Given the description of an element on the screen output the (x, y) to click on. 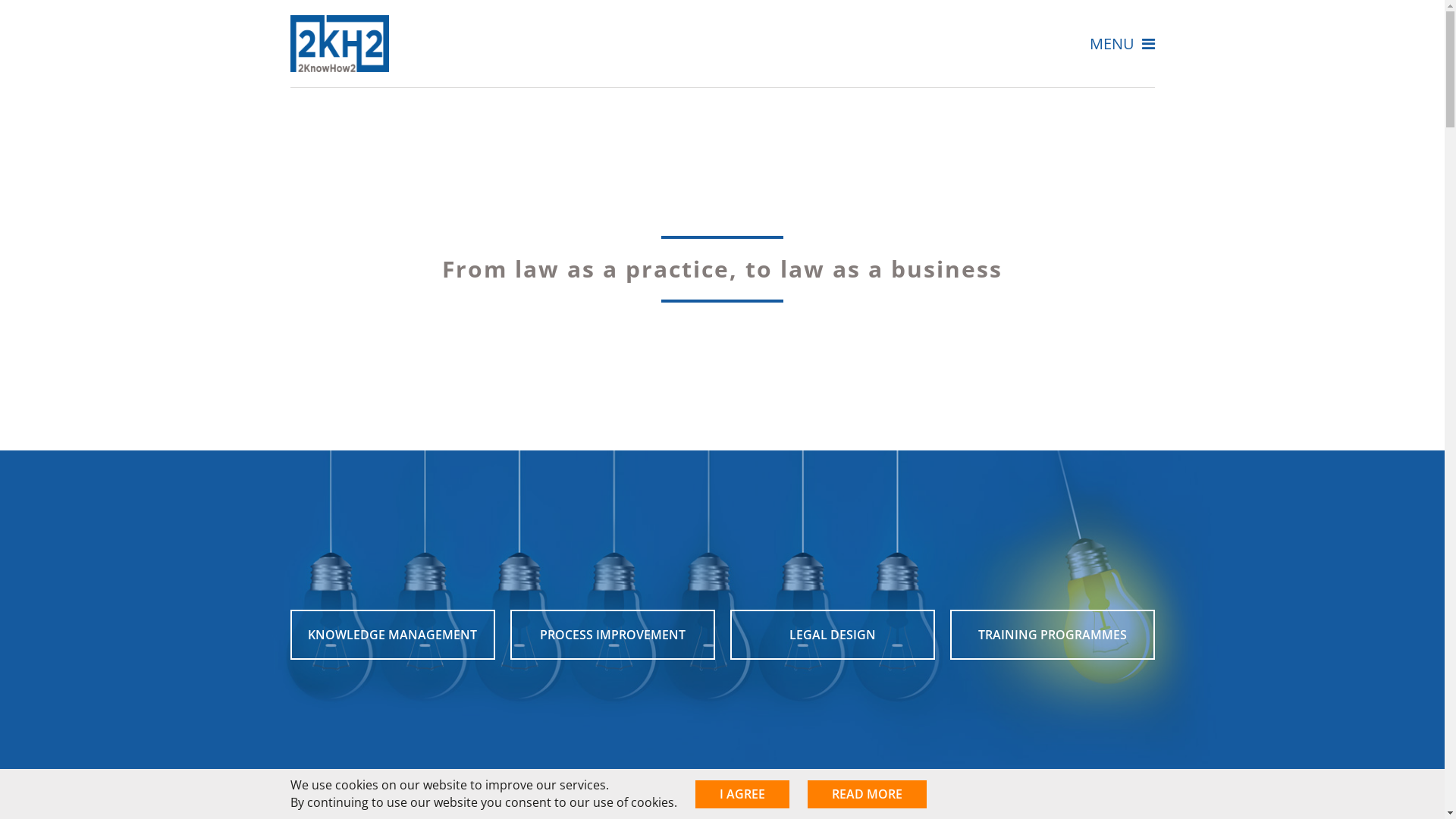
PROCESS IMPROVEMENT Element type: text (611, 634)
LEGAL DESIGN Element type: text (831, 634)
I AGREE Element type: text (741, 794)
KNOWLEDGE MANAGEMENT Element type: text (391, 634)
READ MORE Element type: text (865, 794)
MENU Element type: text (1121, 43)
TRAINING PROGRAMMES Element type: text (1051, 634)
